Given the description of an element on the screen output the (x, y) to click on. 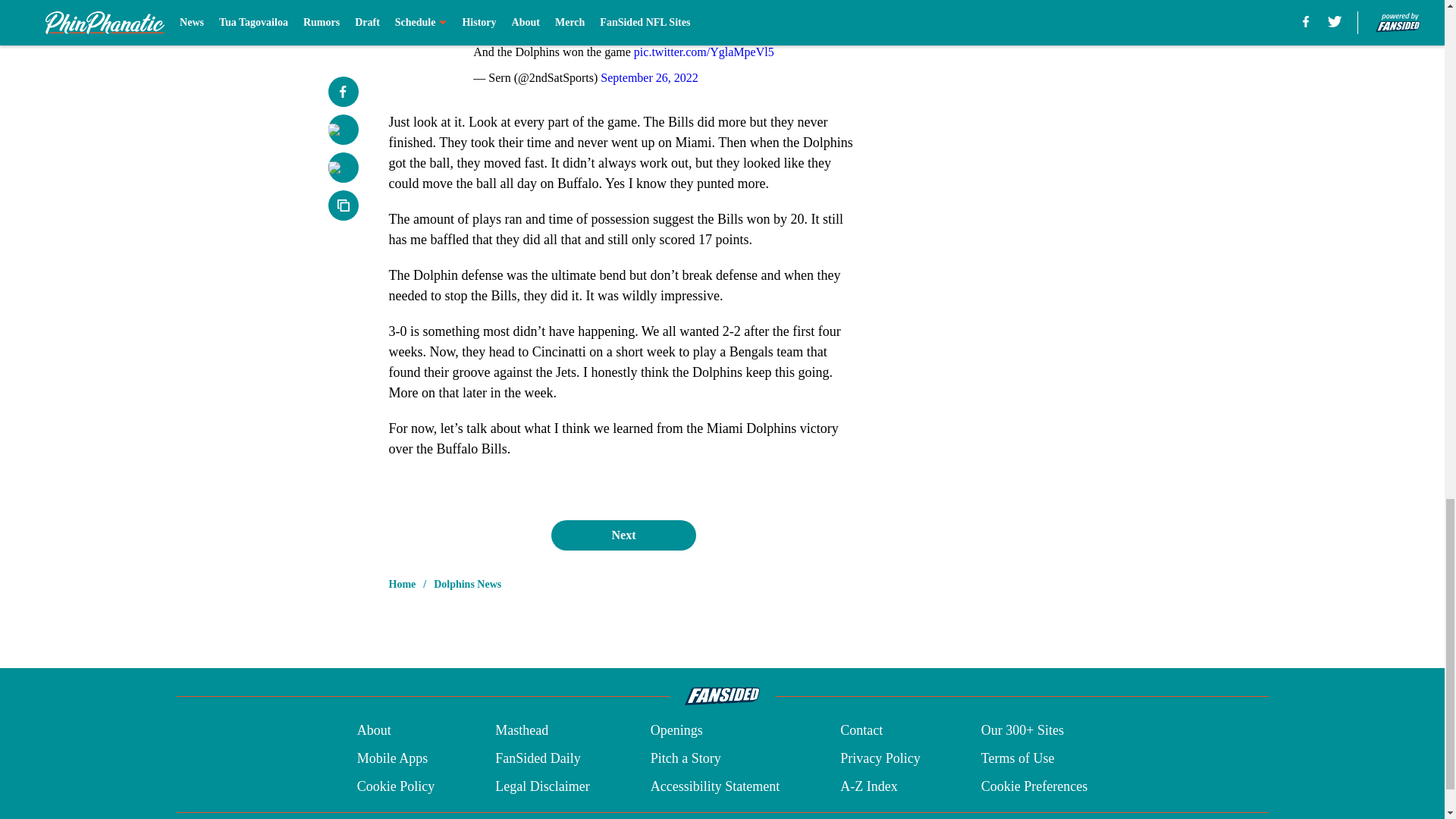
FanSided Daily (537, 758)
Mobile Apps (392, 758)
Home (401, 584)
Masthead (521, 730)
Terms of Use (1017, 758)
Openings (676, 730)
About (373, 730)
Cookie Policy (395, 786)
Next (622, 535)
Dolphins News (466, 584)
September 26, 2022 (648, 77)
Privacy Policy (880, 758)
Pitch a Story (685, 758)
Contact (861, 730)
